Given the description of an element on the screen output the (x, y) to click on. 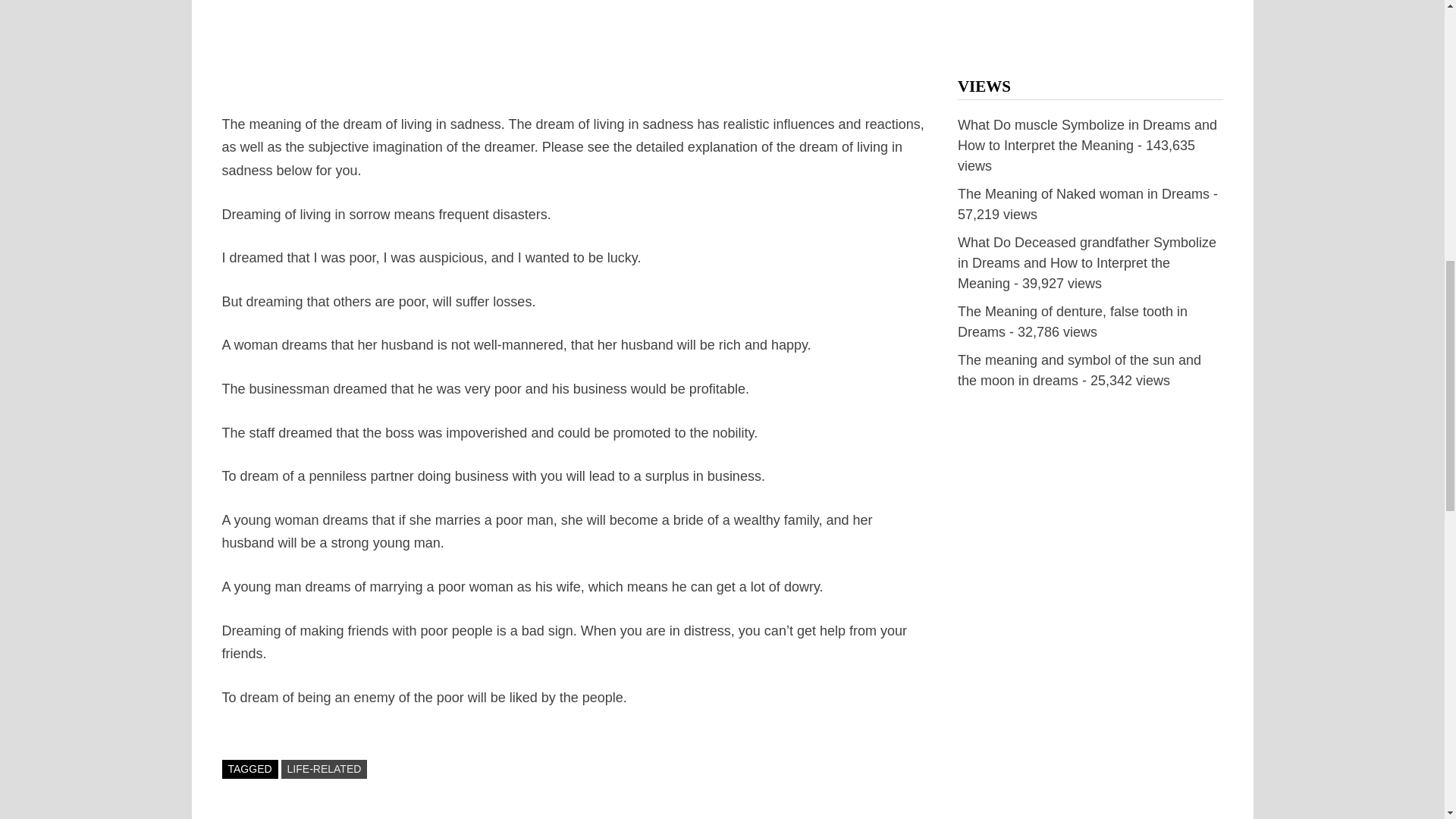
Advertisement (573, 56)
LIFE-RELATED (324, 769)
